Given the description of an element on the screen output the (x, y) to click on. 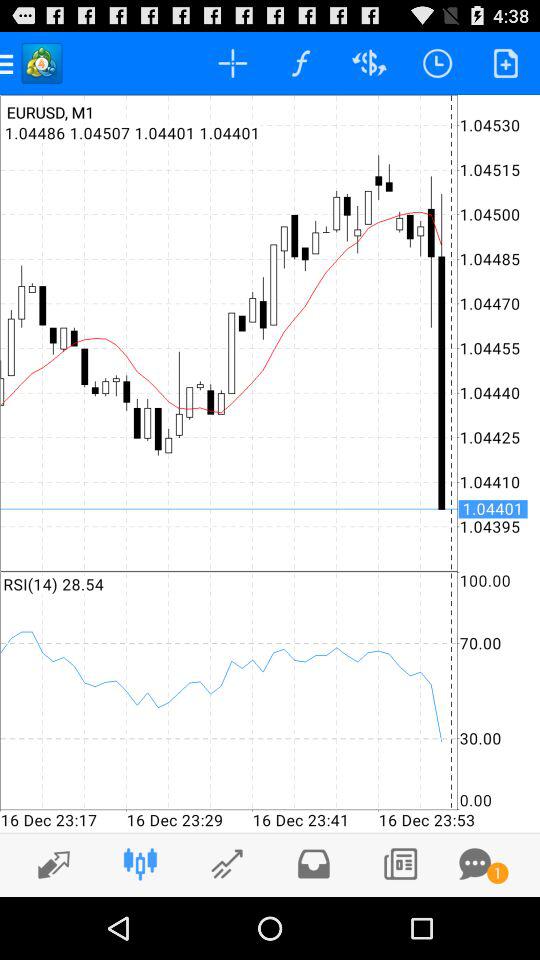
see charts (226, 863)
